Given the description of an element on the screen output the (x, y) to click on. 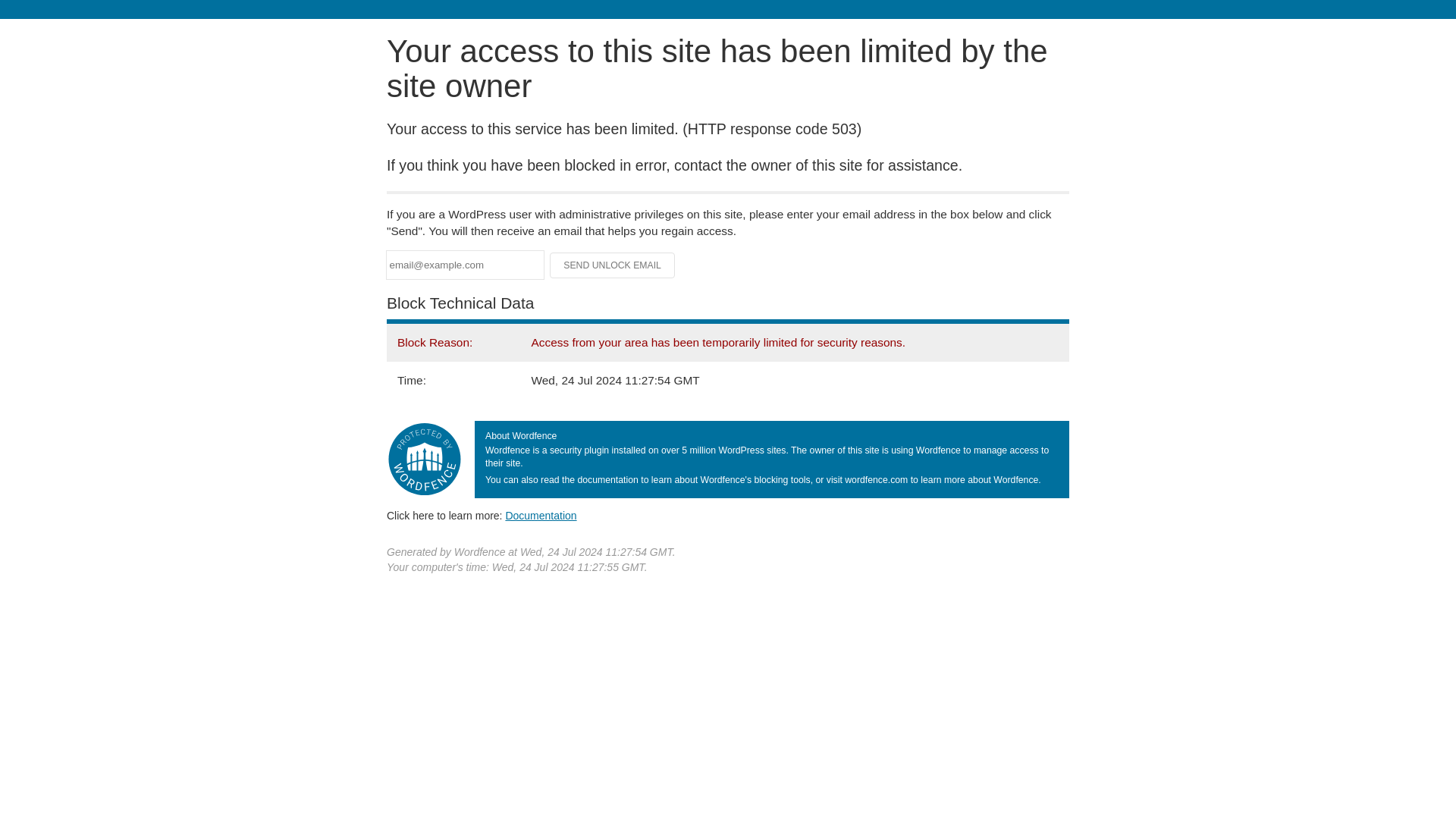
Documentation (540, 515)
Send Unlock Email (612, 265)
Send Unlock Email (612, 265)
